Given the description of an element on the screen output the (x, y) to click on. 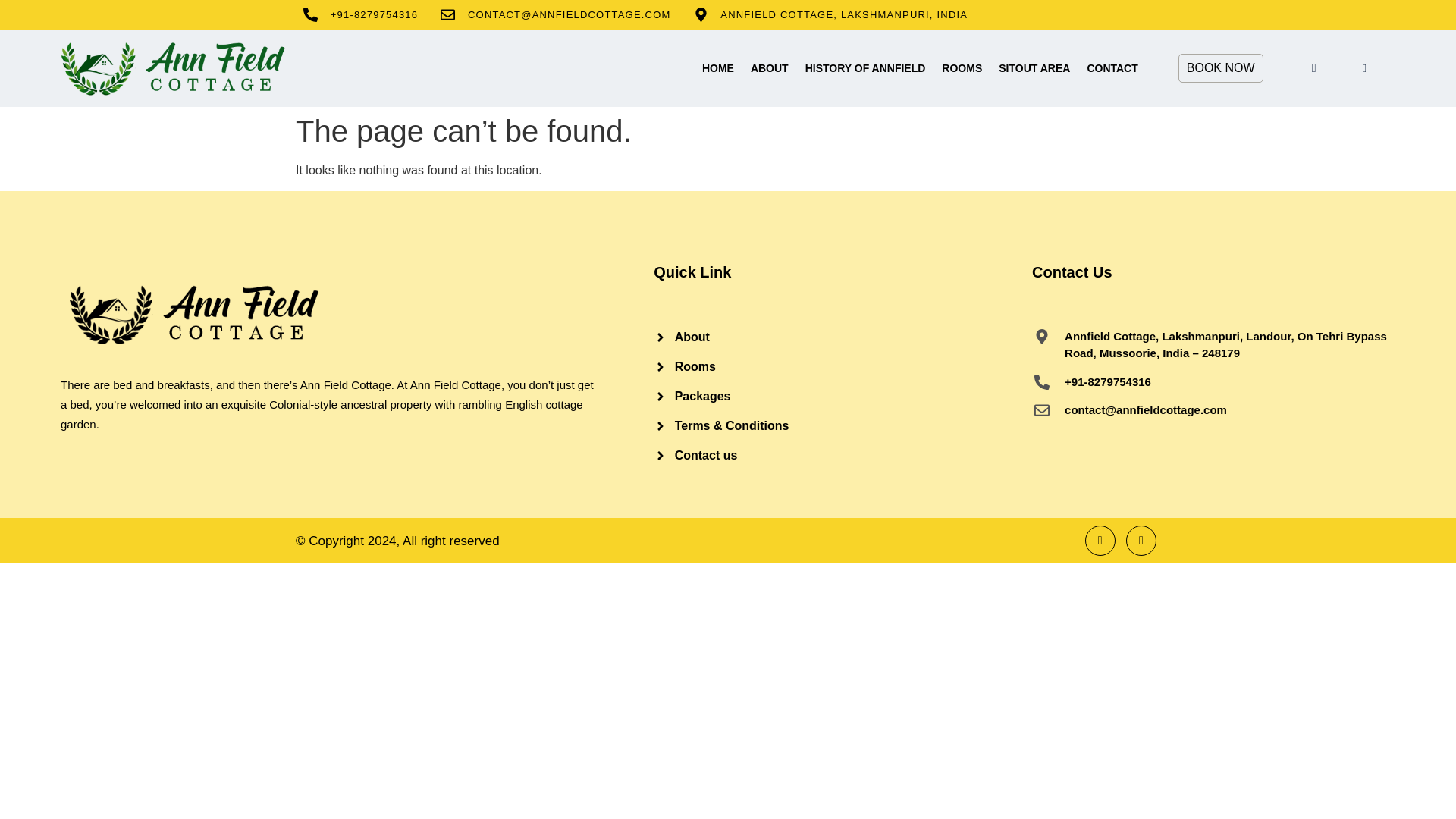
ROOMS (961, 67)
Packages (842, 395)
ABOUT (769, 67)
HOME (718, 67)
SITOUT AREA (1034, 67)
HISTORY OF ANNFIELD (865, 67)
Contact us (842, 454)
Rooms (842, 366)
About (842, 336)
CONTACT (1111, 67)
BOOK NOW (1220, 68)
